Given the description of an element on the screen output the (x, y) to click on. 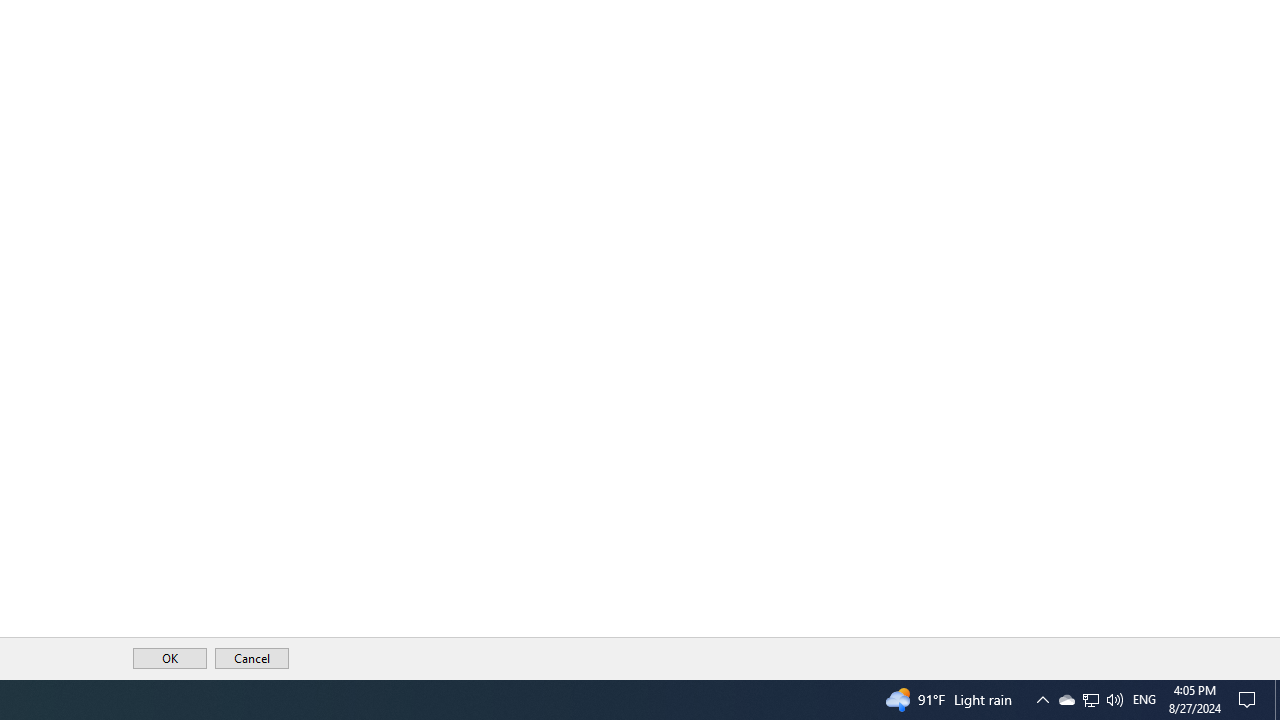
Show desktop (1277, 699)
Action Center, No new notifications (1250, 699)
Notification Chevron (1042, 699)
User Promoted Notification Area (1090, 699)
Tray Input Indicator - English (United States) (1144, 699)
Q2790: 100% (1091, 699)
Cancel (1066, 699)
OK (1114, 699)
